Given the description of an element on the screen output the (x, y) to click on. 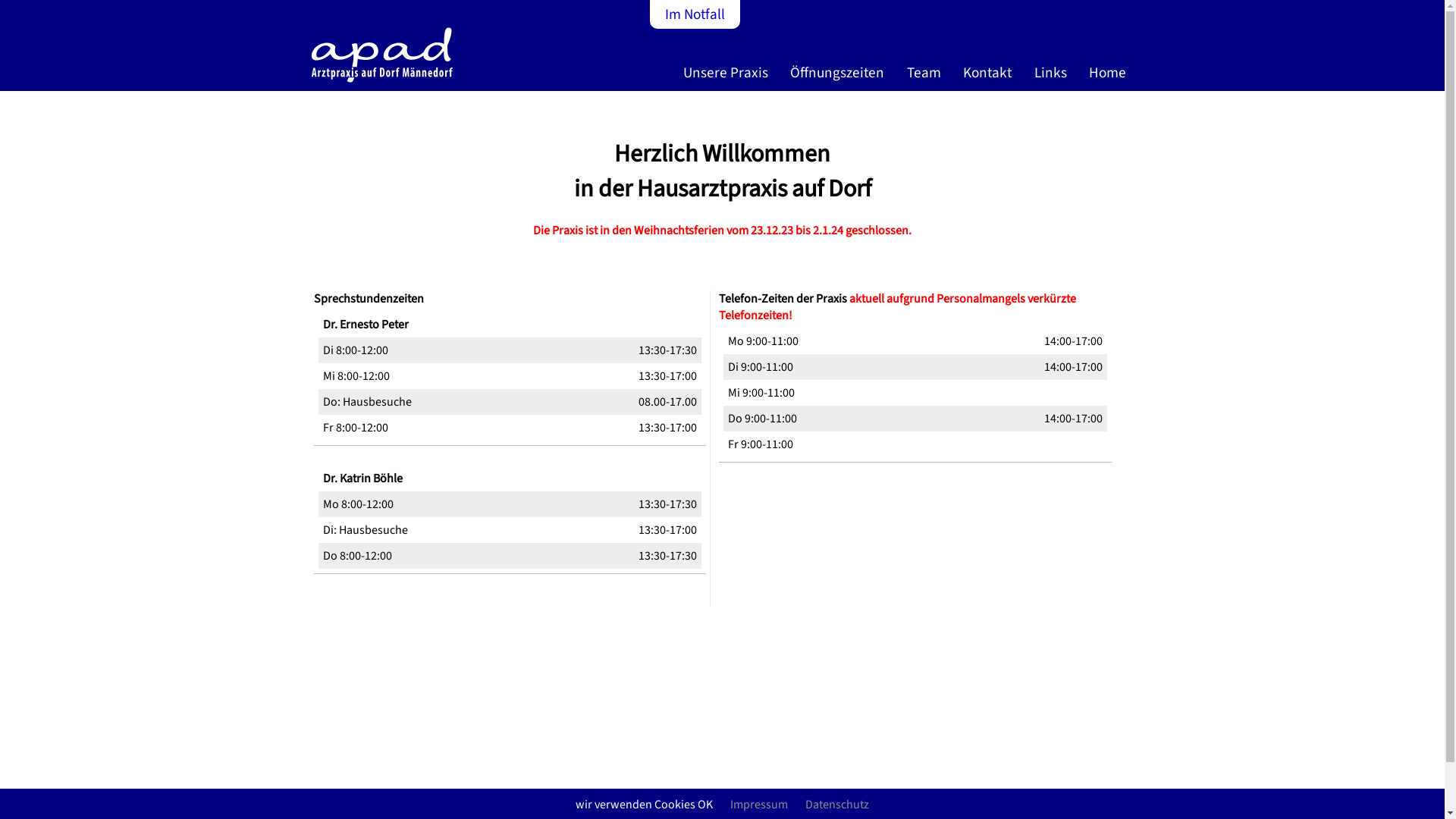
Home Element type: text (1110, 78)
Unsere Praxis Element type: text (728, 78)
Im Notfall Element type: text (694, 14)
Kontakt Element type: text (990, 78)
Datenschutz Element type: text (86, 805)
Datenschutz Element type: text (837, 804)
Links Element type: text (1053, 78)
Impressum Element type: text (29, 805)
Team Element type: text (926, 78)
Impressum Element type: text (758, 804)
